Given the description of an element on the screen output the (x, y) to click on. 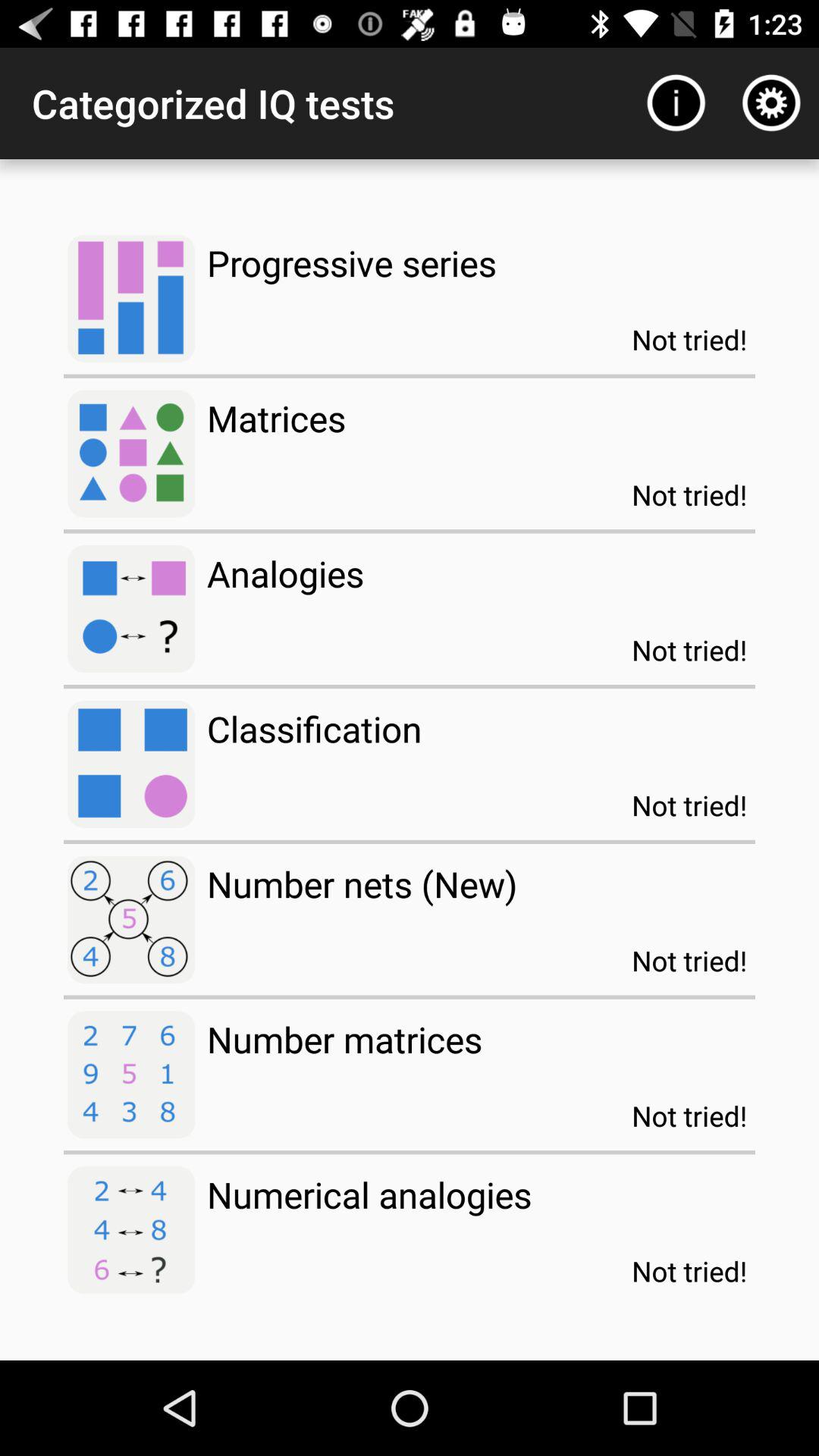
jump to classification app (314, 728)
